Given the description of an element on the screen output the (x, y) to click on. 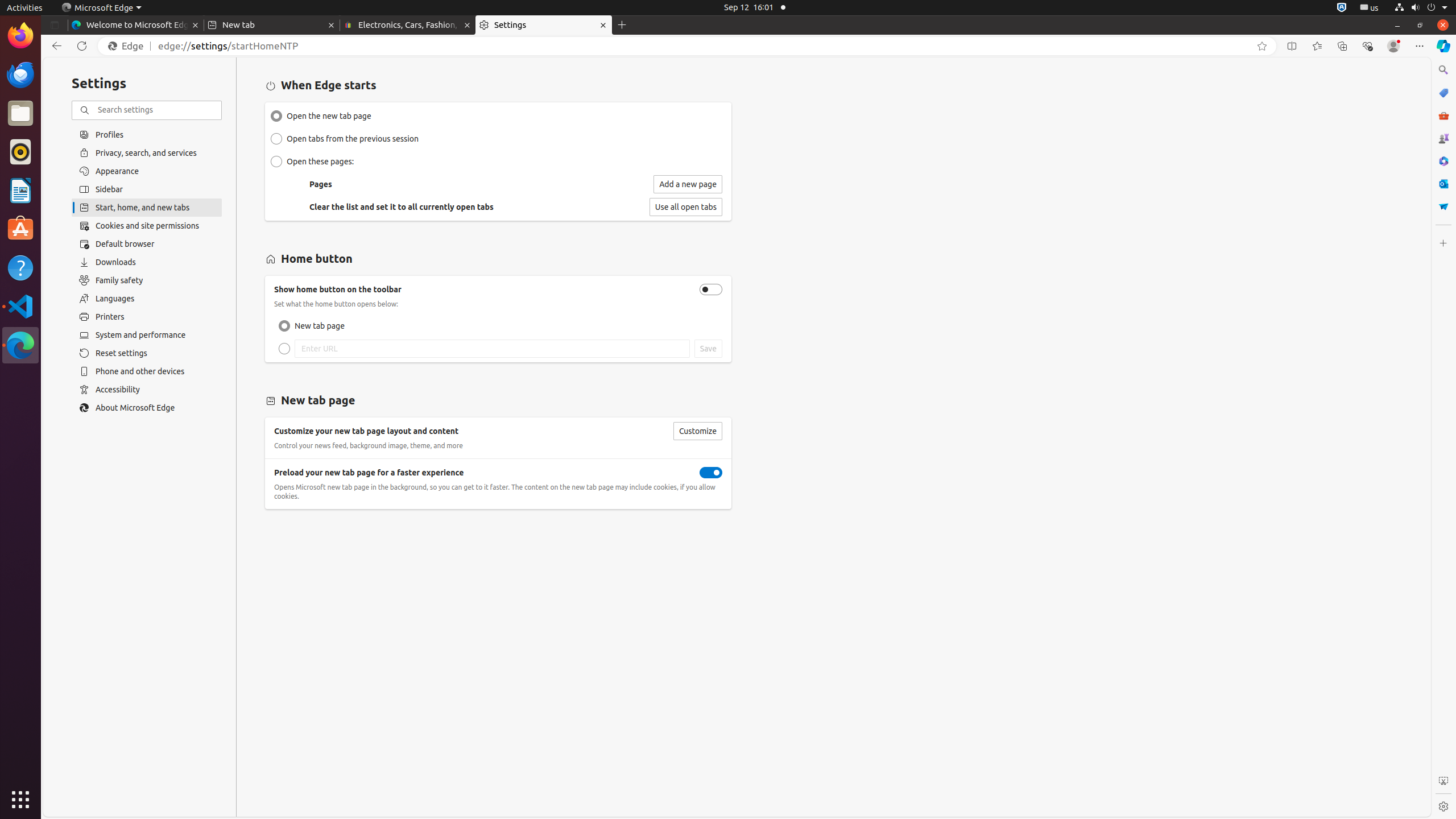
Family safety Element type: tree-item (146, 280)
Settings and more (Alt+F) Element type: push-button (1419, 45)
Reset settings Element type: tree-item (146, 353)
About Microsoft Edge Element type: tree-item (146, 407)
New Tab Element type: push-button (622, 25)
